Given the description of an element on the screen output the (x, y) to click on. 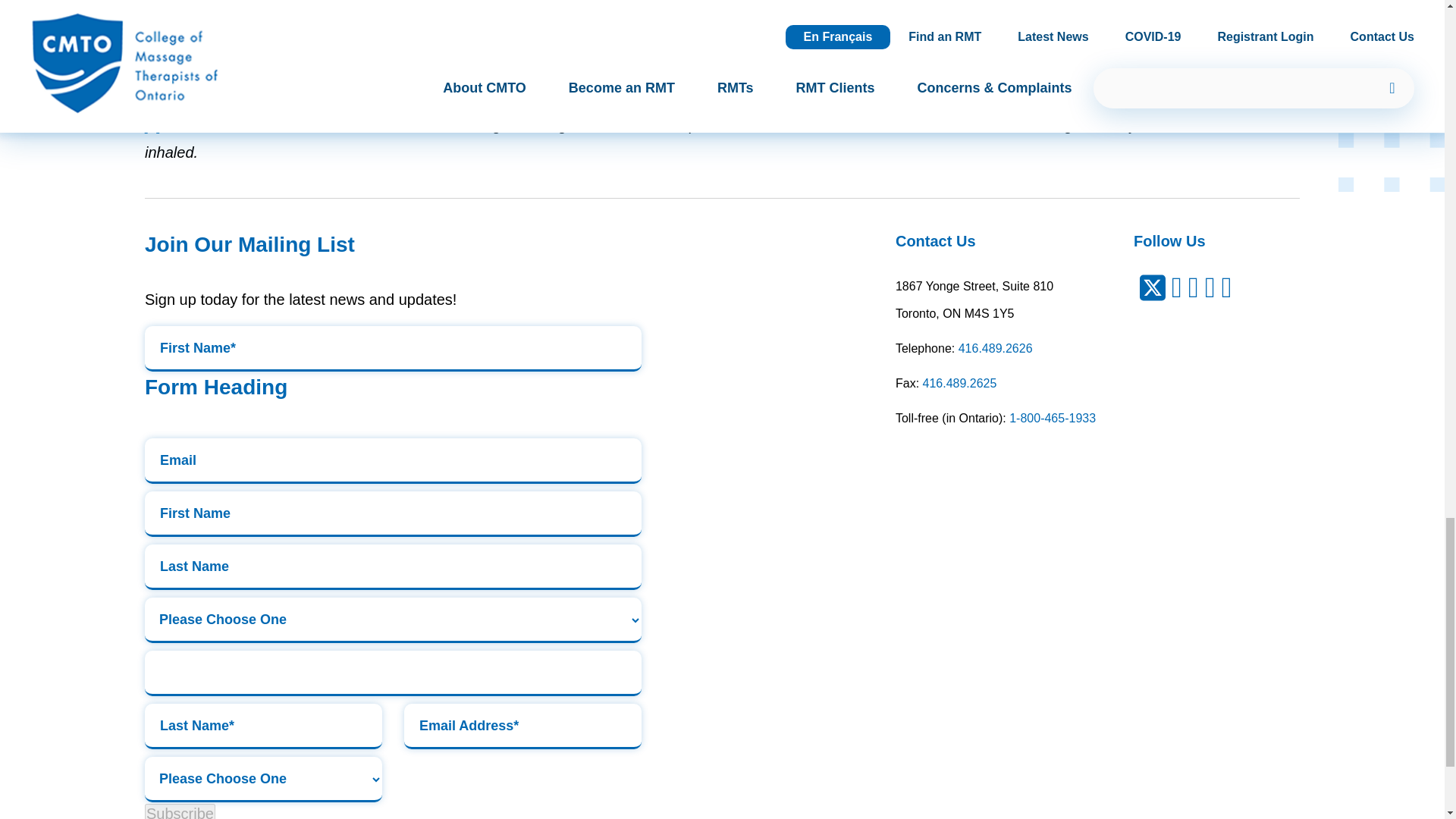
Submit (393, 673)
